Given the description of an element on the screen output the (x, y) to click on. 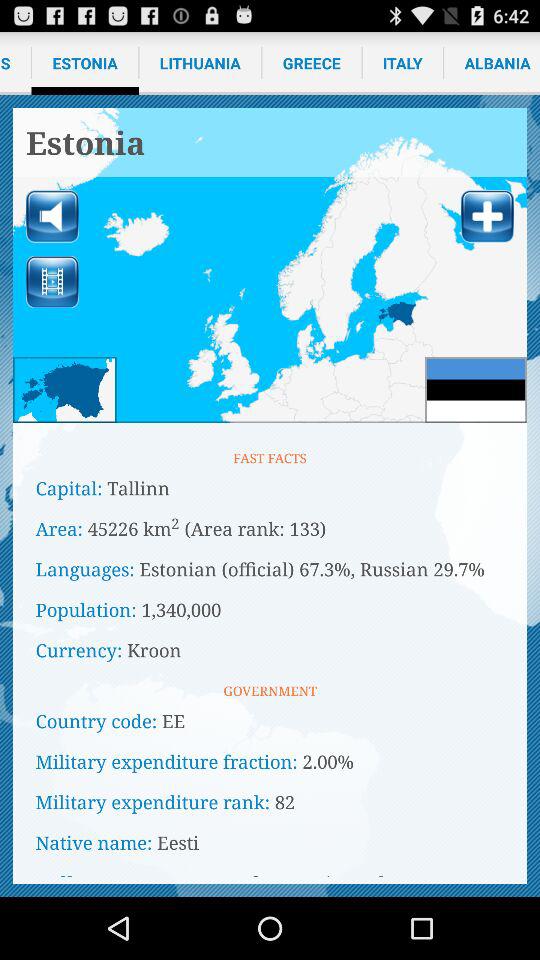
add information (487, 216)
